Given the description of an element on the screen output the (x, y) to click on. 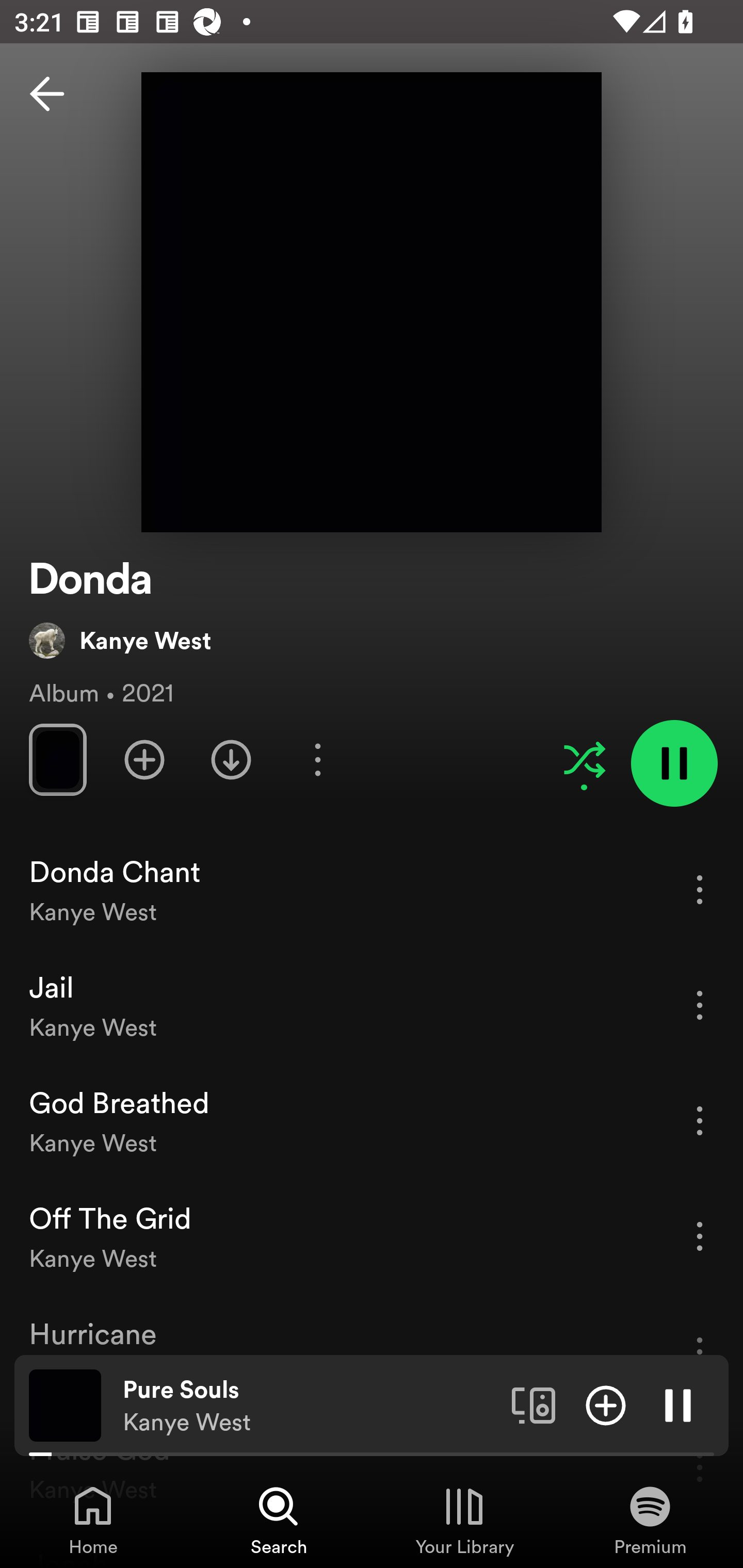
Back (46, 93)
Kanye West (119, 640)
Swipe through previews of tracks from this album. (57, 759)
Add playlist to Your Library (144, 759)
Download (230, 759)
More options for playlist Donda (317, 759)
Disable shuffle for this playlist (583, 759)
Pause playlist (674, 763)
More options for song Donda Chant (699, 889)
Jail Kanye West More options for song Jail (371, 1005)
More options for song Jail (699, 1004)
More options for song God Breathed (699, 1120)
More options for song Off The Grid (699, 1236)
Pure Souls Kanye West (309, 1405)
The cover art of the currently playing track (64, 1404)
